Given the description of an element on the screen output the (x, y) to click on. 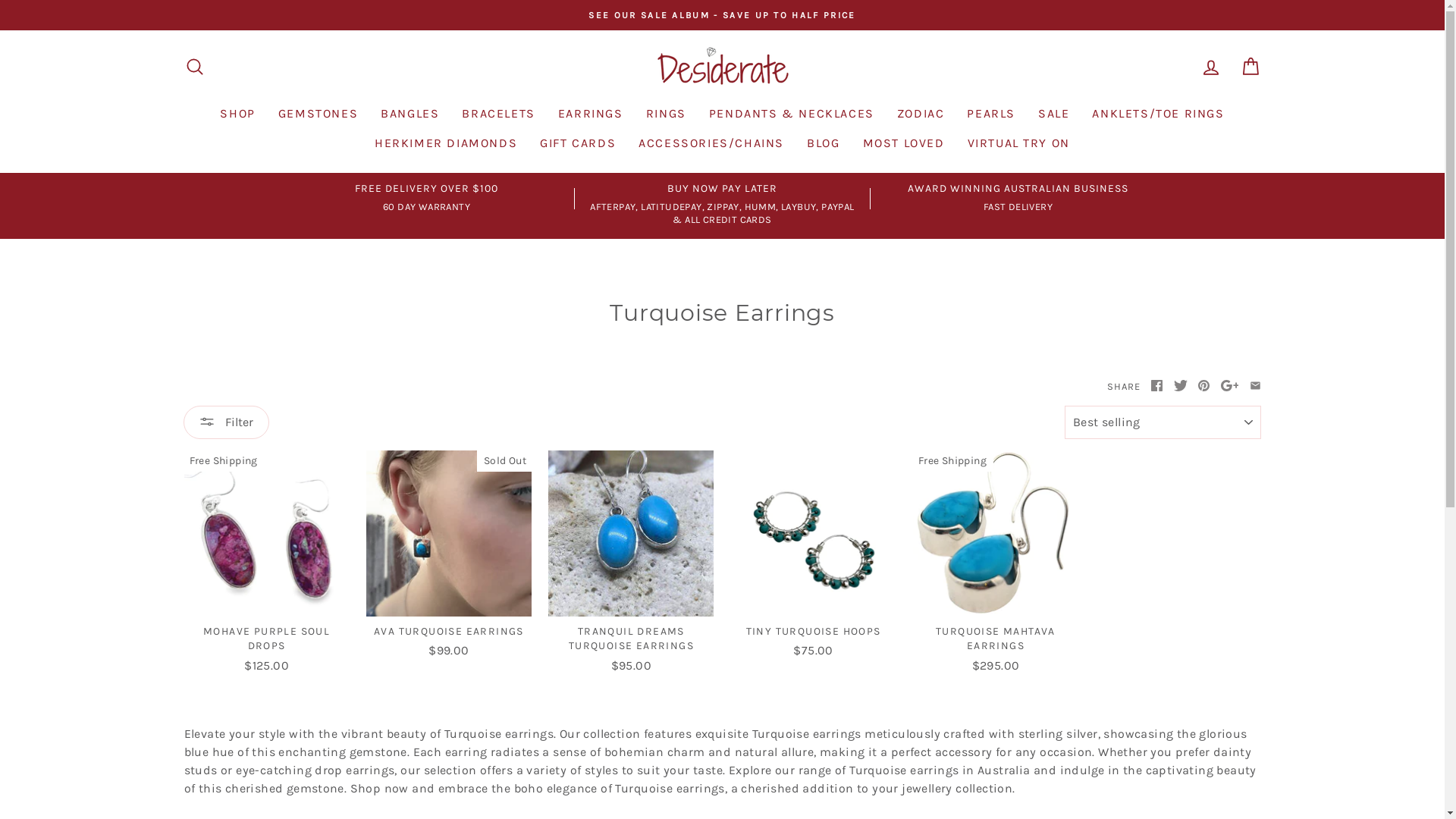
SEE OUR SALE ALBUM - SAVE UP TO HALF PRICE Element type: text (722, 14)
Facebook Element type: text (1156, 385)
SEARCH Element type: text (193, 66)
TINY TURQUOISE HOOPS
$75.00 Element type: text (812, 556)
CART Element type: text (1249, 66)
RINGS Element type: text (665, 113)
PEARLS Element type: text (990, 113)
Twitter Element type: text (1180, 385)
LOG IN Element type: text (1210, 66)
MOHAVE PURPLE SOUL DROPS
$125.00 Element type: text (265, 564)
Skip to content Element type: text (0, 0)
TURQUOISE MAHTAVA EARRINGS
$295.00 Element type: text (995, 564)
BLOG Element type: text (822, 142)
GIFT CARDS Element type: text (577, 142)
SALE Element type: text (1053, 113)
MOST LOVED Element type: text (902, 142)
VIRTUAL TRY ON Element type: text (1017, 142)
BANGLES Element type: text (409, 113)
Pinterest Element type: text (1203, 385)
GEMSTONES Element type: text (317, 113)
TRANQUIL DREAMS TURQUOISE EARRINGS
$95.00 Element type: text (630, 564)
SHOP Element type: text (237, 113)
ACCESSORIES/CHAINS Element type: text (711, 142)
BRACELETS Element type: text (498, 113)
EARRINGS Element type: text (590, 113)
ANKLETS/TOE RINGS Element type: text (1157, 113)
Filter Element type: text (226, 422)
AVA TURQUOISE EARRINGS
$99.00 Element type: text (448, 556)
ZODIAC Element type: text (920, 113)
PENDANTS & NECKLACES Element type: text (791, 113)
Share using email Element type: hover (1255, 385)
HERKIMER DIAMONDS Element type: text (445, 142)
GooglePlus Element type: text (1229, 385)
